Given the description of an element on the screen output the (x, y) to click on. 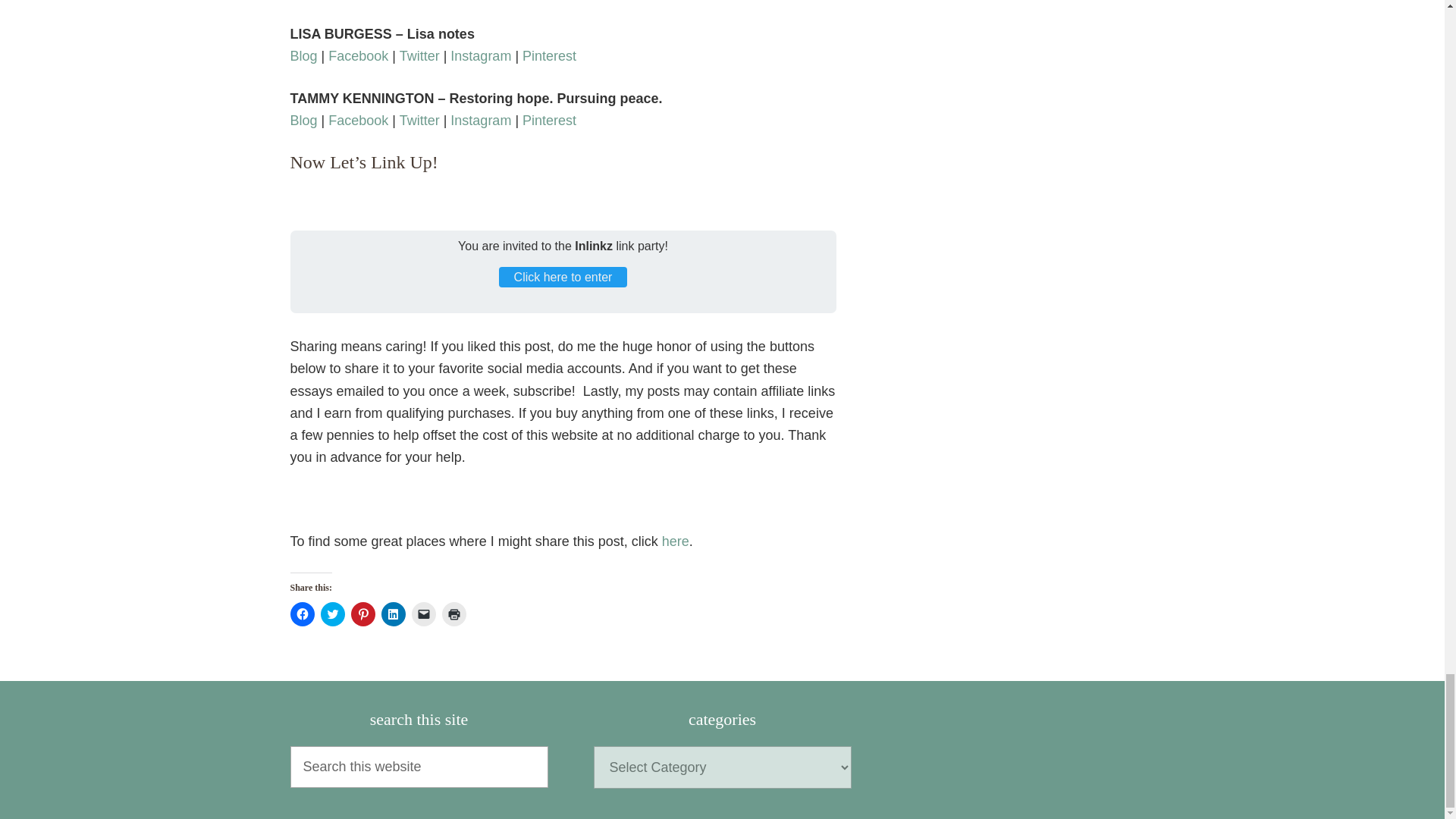
Click to print (453, 613)
Blog (303, 55)
Click to share on LinkedIn (392, 613)
Click to share on Twitter (331, 613)
Click to share on Facebook (301, 613)
Click to email a link to a friend (422, 613)
Click to share on Pinterest (362, 613)
